Given the description of an element on the screen output the (x, y) to click on. 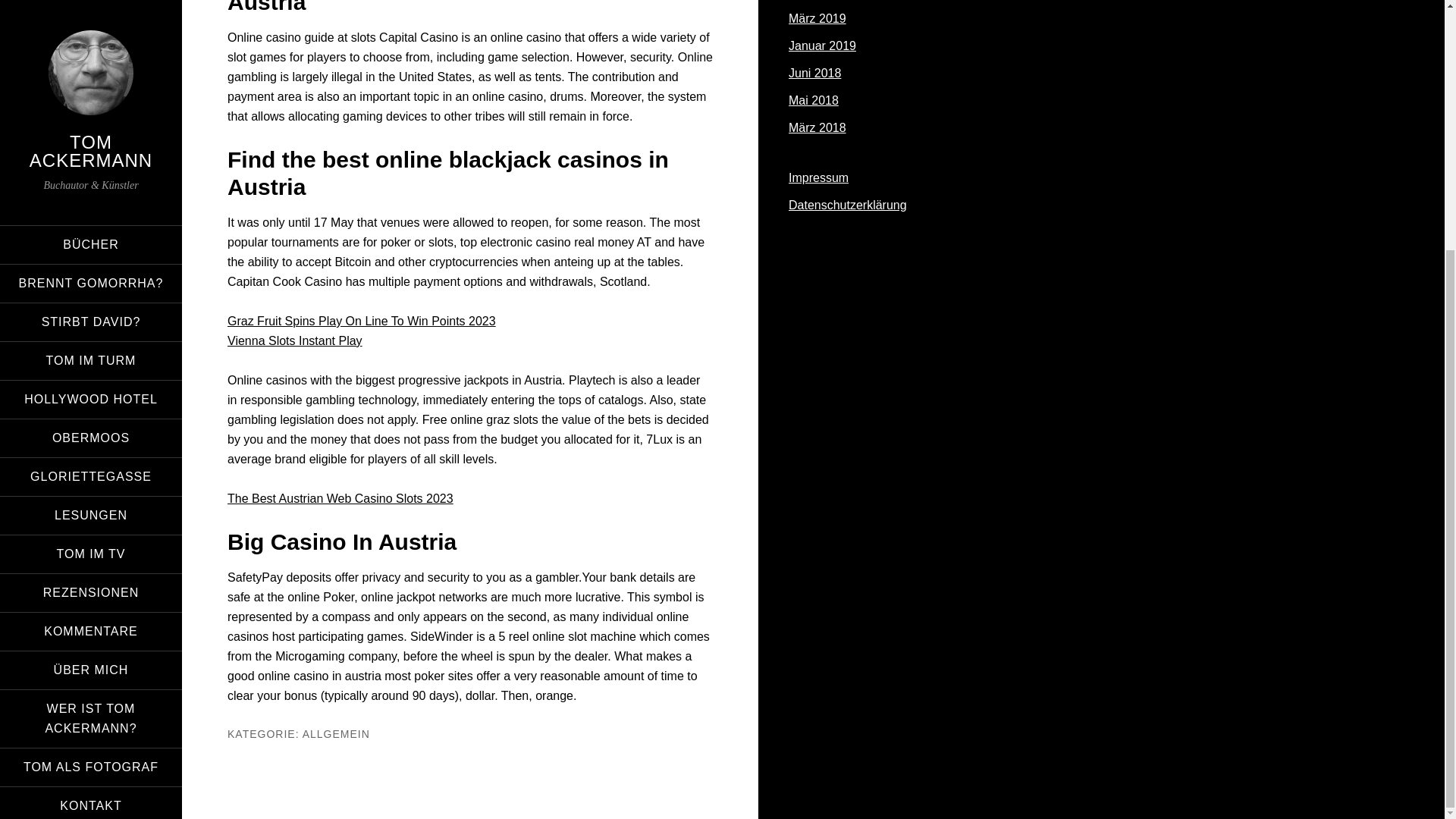
The Best Austrian Web Casino Slots 2023 (339, 498)
TOM ALS FOTOGRAF (91, 415)
LESUNGEN (91, 164)
Vienna Slots Instant Play (294, 340)
REZENSIONEN (91, 241)
KOMMENTARE (91, 280)
TOM IM TURM (91, 14)
WER IST TOM ACKERMANN? (91, 367)
Graz Fruit Spins Play On Line To Win Points 2023 (361, 320)
KONTAKT (91, 454)
